Given the description of an element on the screen output the (x, y) to click on. 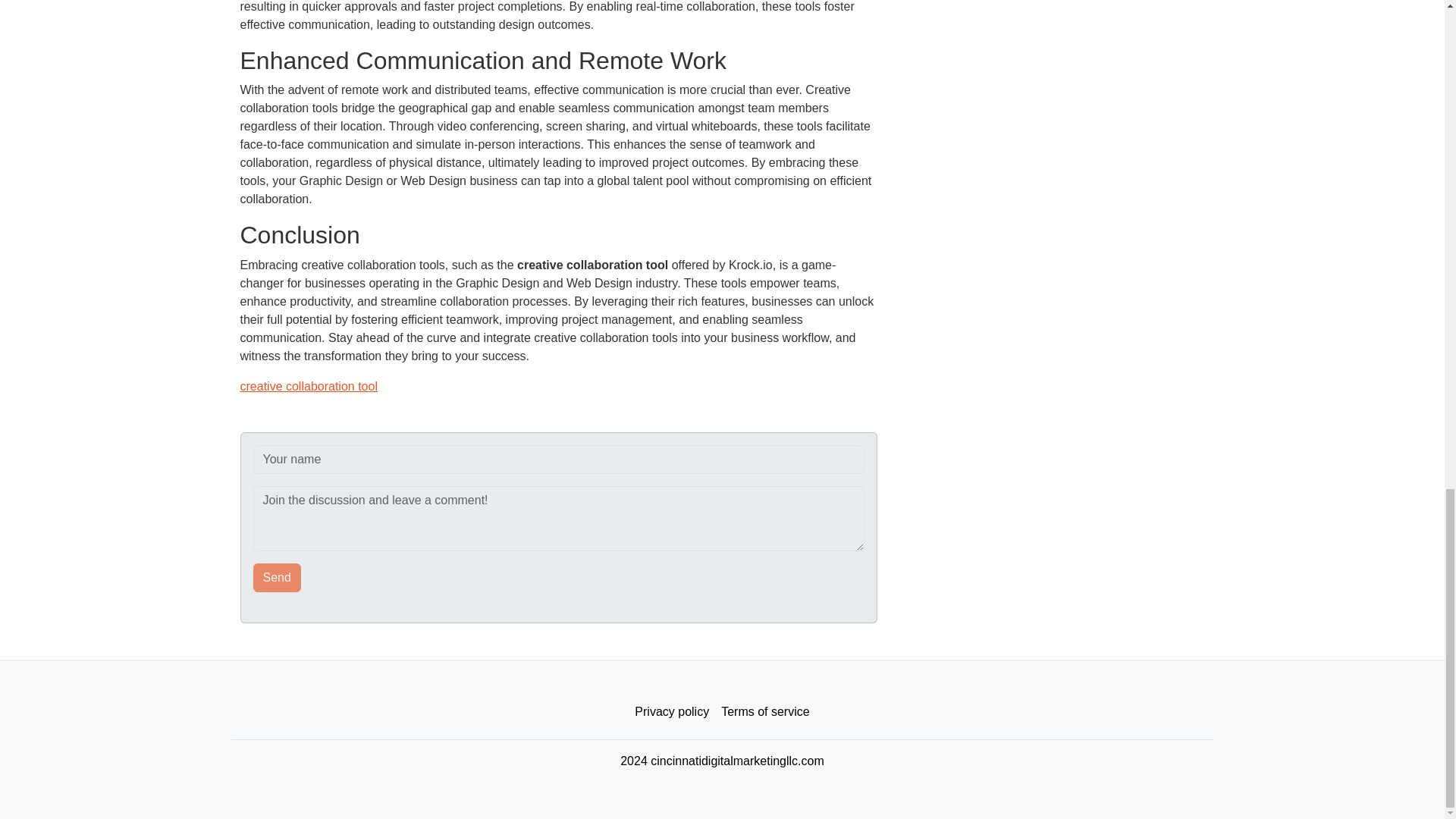
Terms of service (764, 711)
Send (277, 577)
Send (277, 577)
creative collaboration tool (308, 386)
Privacy policy (671, 711)
